Given the description of an element on the screen output the (x, y) to click on. 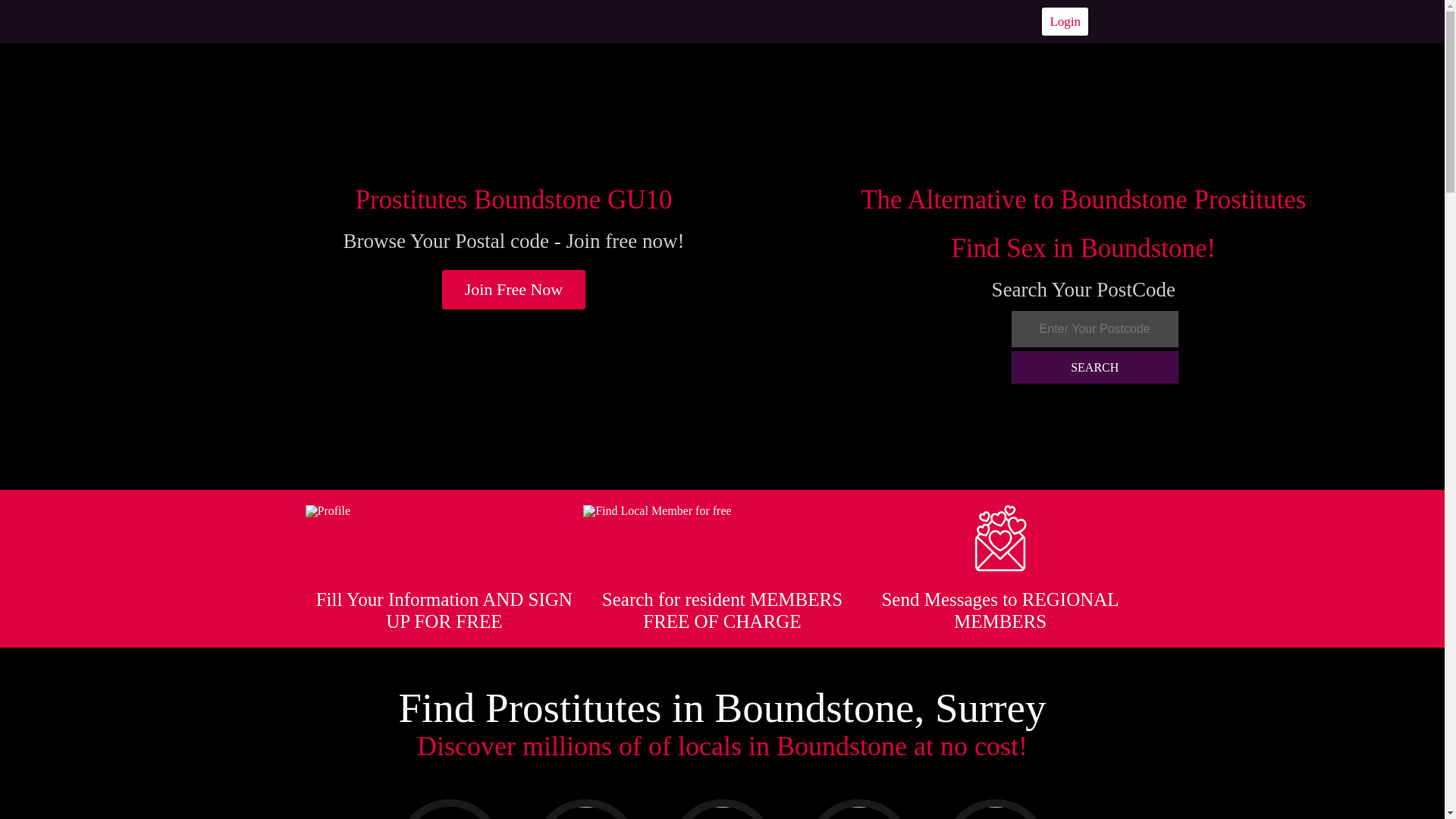
SEARCH (1094, 367)
Login (1064, 21)
Join Free Now (514, 289)
Login (1064, 21)
Join (514, 289)
